Given the description of an element on the screen output the (x, y) to click on. 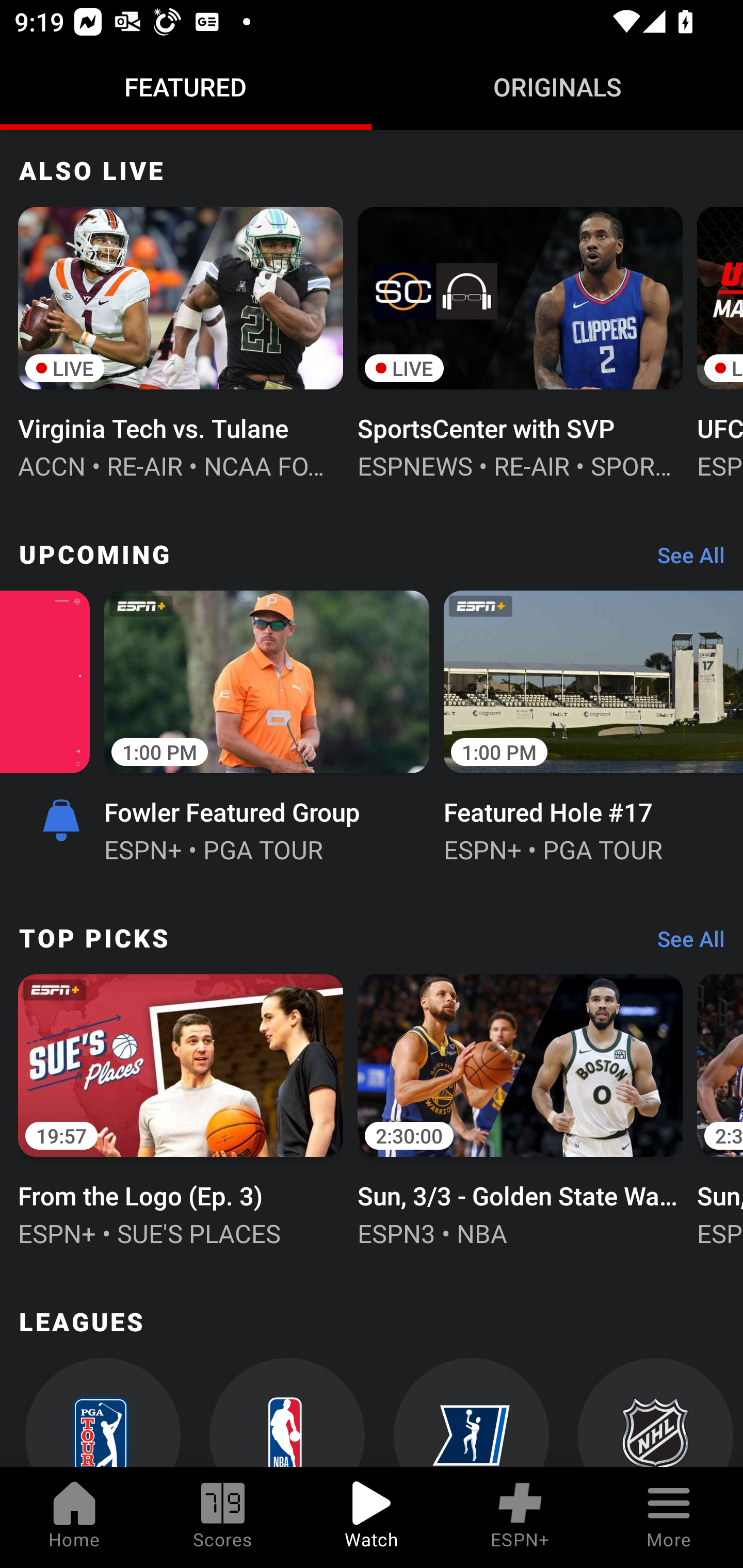
Originals ORIGINALS (557, 86)
See All (683, 559)
1:00 PM Fowler Featured Group ESPN+ • PGA TOUR (266, 725)
1:00 PM Featured Hole #17 ESPN+ • PGA TOUR (593, 725)
See All (683, 943)
19:57 From the Logo (Ep. 3) ESPN+ • SUE'S PLACES (180, 1108)
Home (74, 1517)
Scores (222, 1517)
ESPN+ (519, 1517)
More (668, 1517)
